Given the description of an element on the screen output the (x, y) to click on. 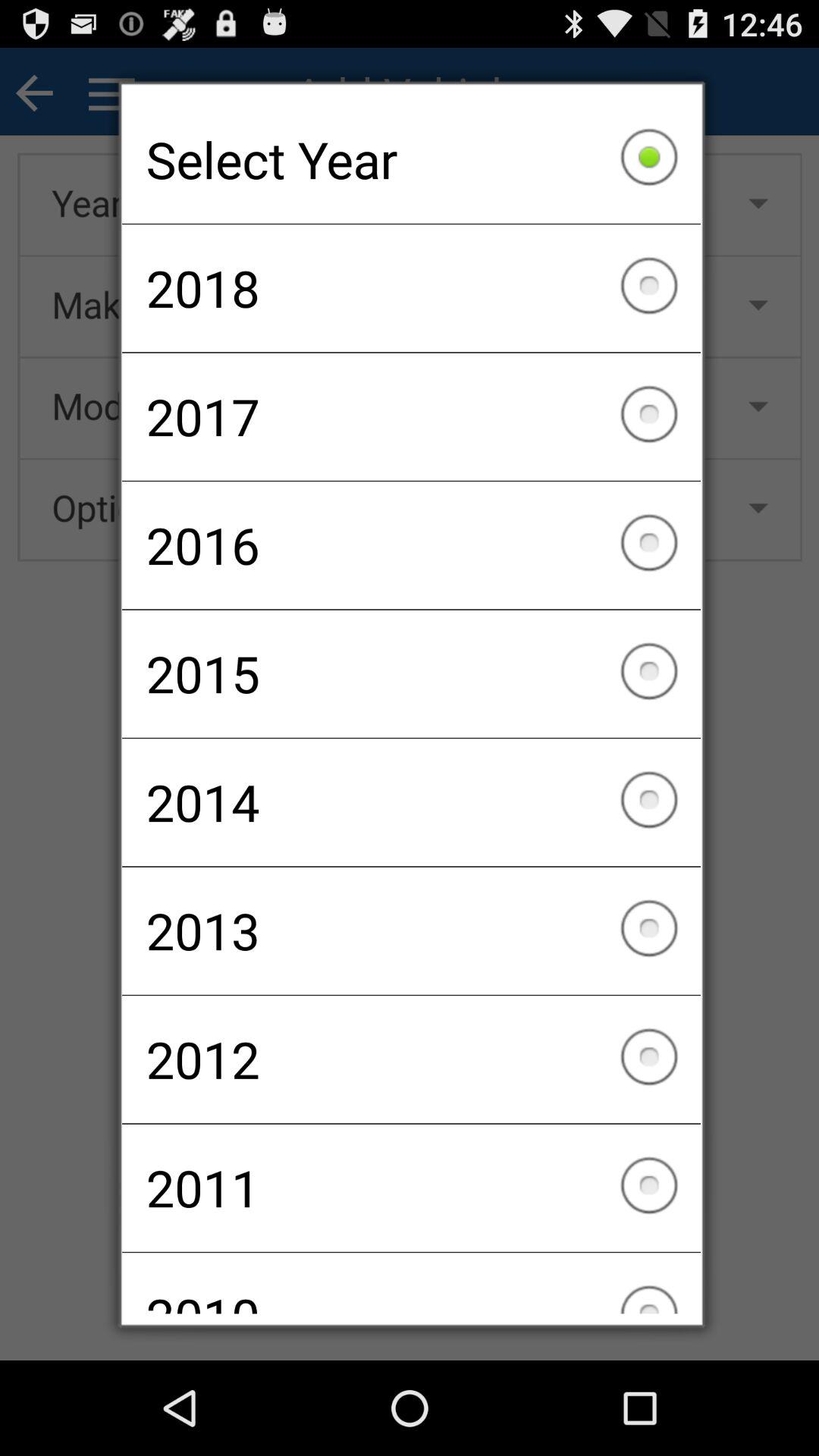
turn off checkbox above the 2011 item (411, 1059)
